Given the description of an element on the screen output the (x, y) to click on. 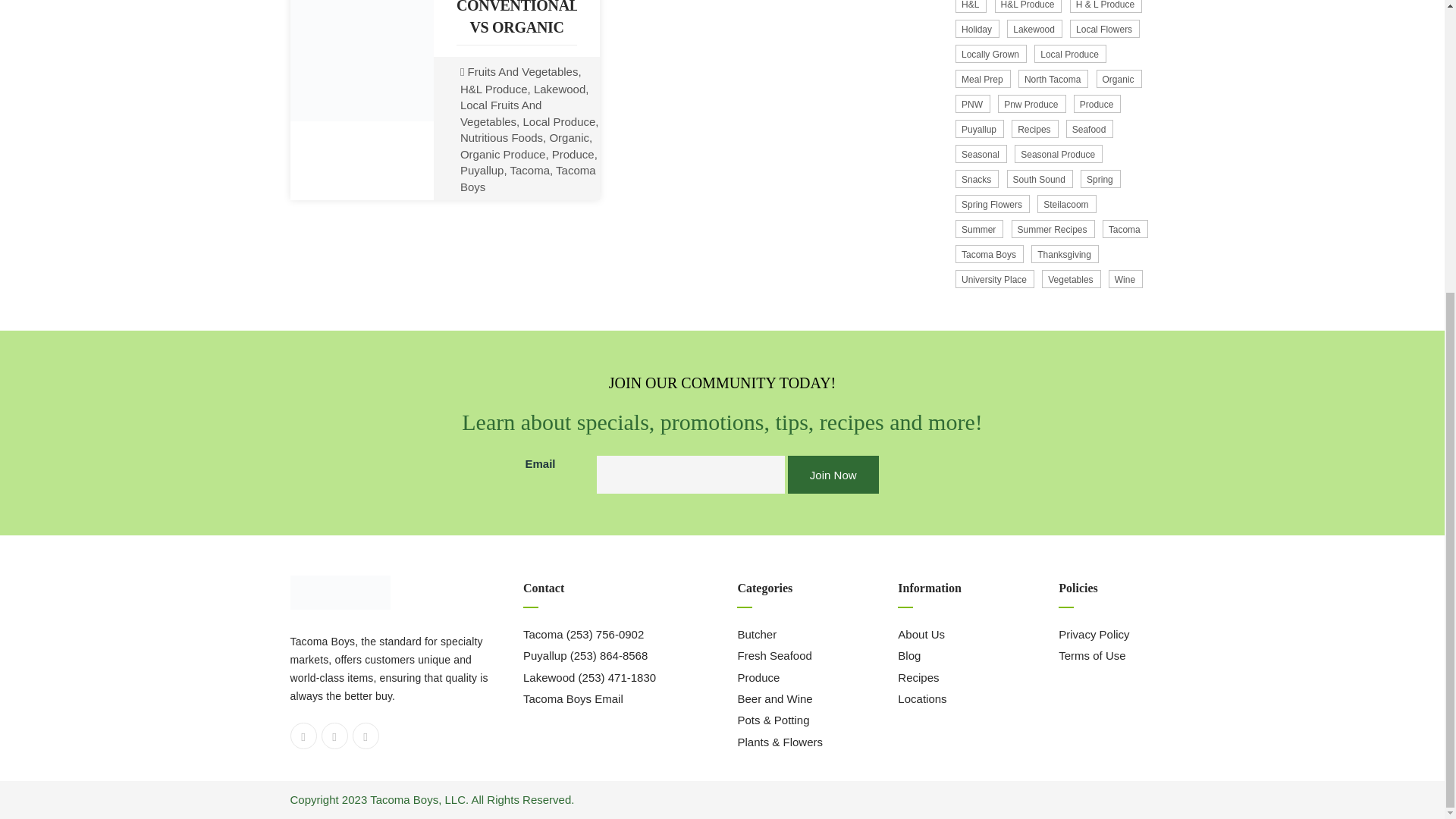
Tacoma (529, 169)
Nutritious Foods (501, 137)
Organic (568, 137)
pinterest plus (365, 735)
Tacoma Boys (527, 177)
Read more (516, 173)
Local Produce (558, 121)
Puyallup (481, 169)
Local Fruits And Vegetables (500, 112)
Fruits And Vegetables (522, 71)
